Given the description of an element on the screen output the (x, y) to click on. 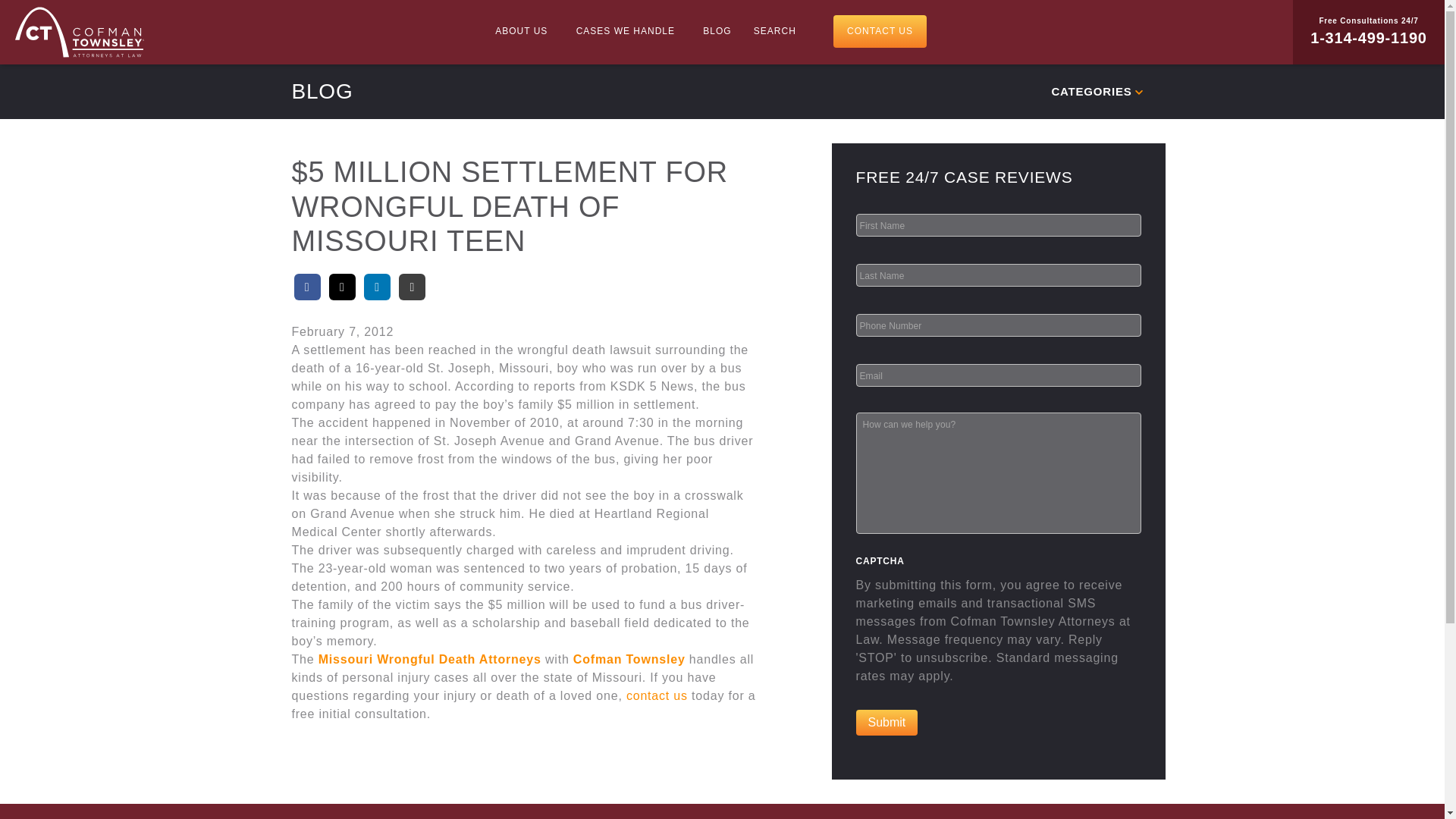
Submit (886, 722)
1-314-499-1190 (1368, 37)
BLOG (716, 30)
ABOUT US (524, 30)
CASES WE HANDLE (628, 30)
CHEVRON (1138, 92)
CONTACT US (879, 31)
SEARCH (774, 30)
CATEGORIESCHEVRON (937, 91)
